Given the description of an element on the screen output the (x, y) to click on. 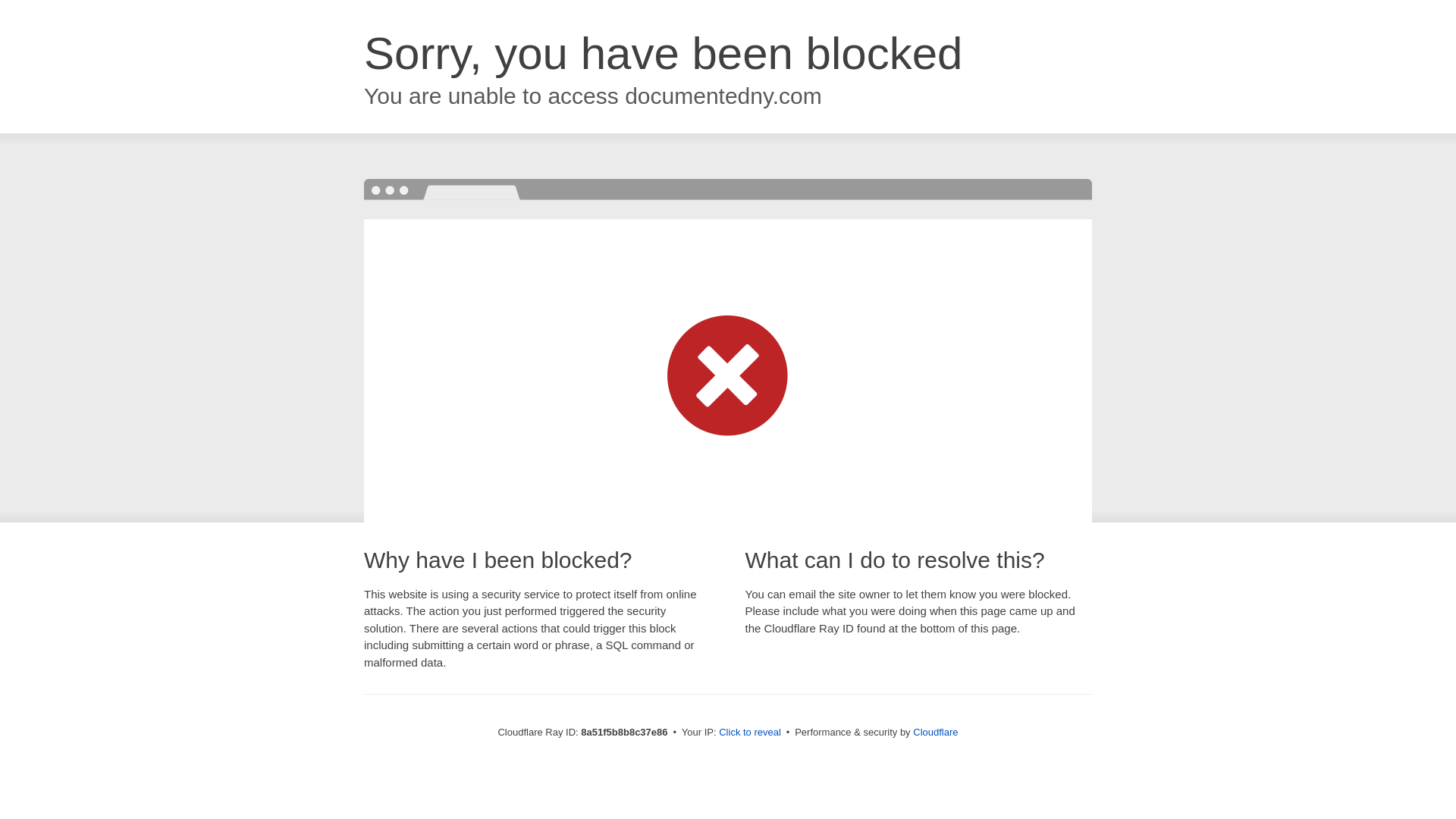
Click to reveal (749, 732)
Cloudflare (935, 731)
